Given the description of an element on the screen output the (x, y) to click on. 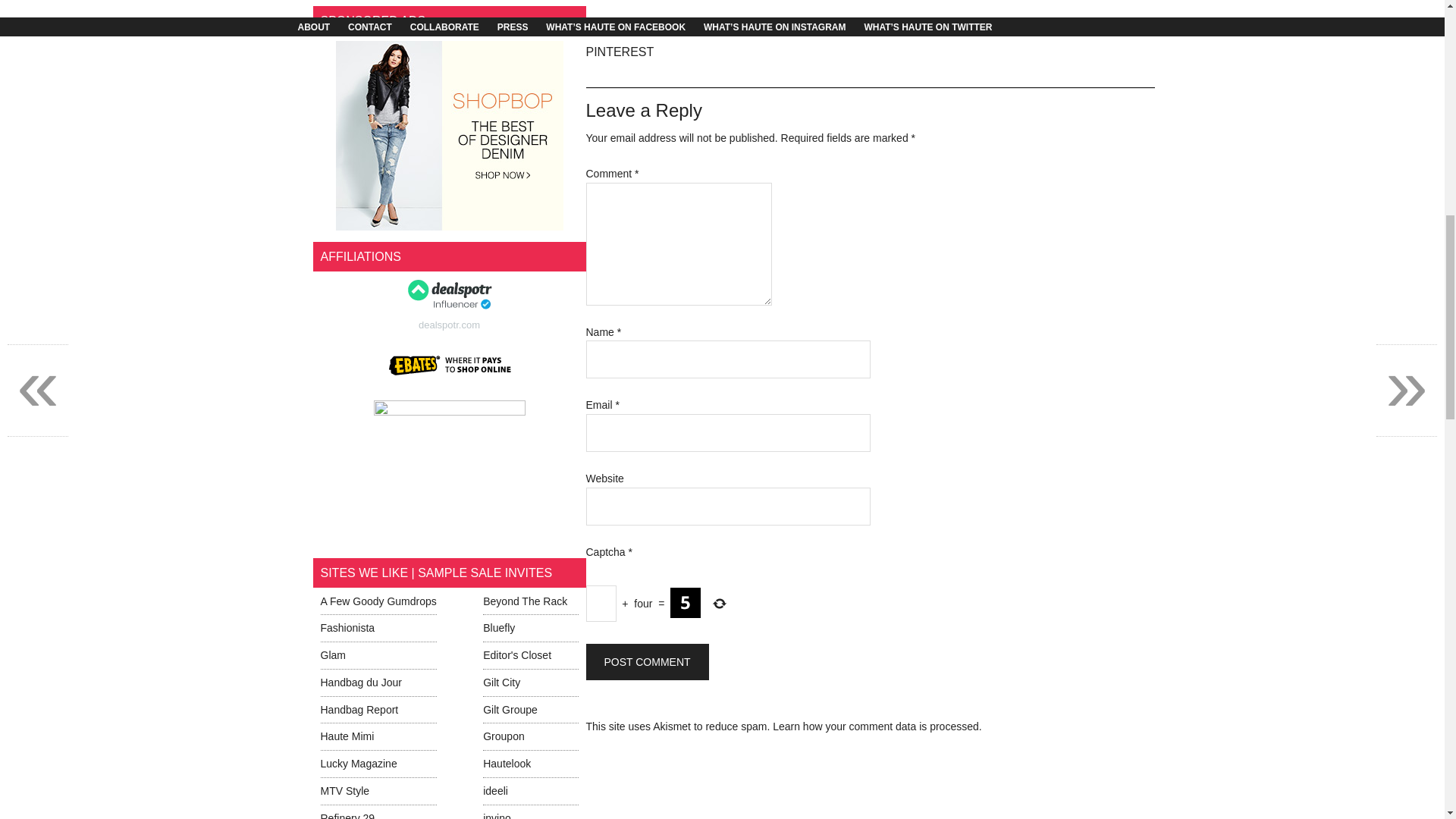
invino invite (497, 815)
Gilt Groupe invite (510, 709)
Bluefly invite (499, 627)
Post Comment (646, 661)
Gilt City (501, 682)
ideeli invite (495, 790)
Hautelook invite (507, 763)
Beyond The Rack invite (525, 601)
Groupon invite (503, 736)
